Given the description of an element on the screen output the (x, y) to click on. 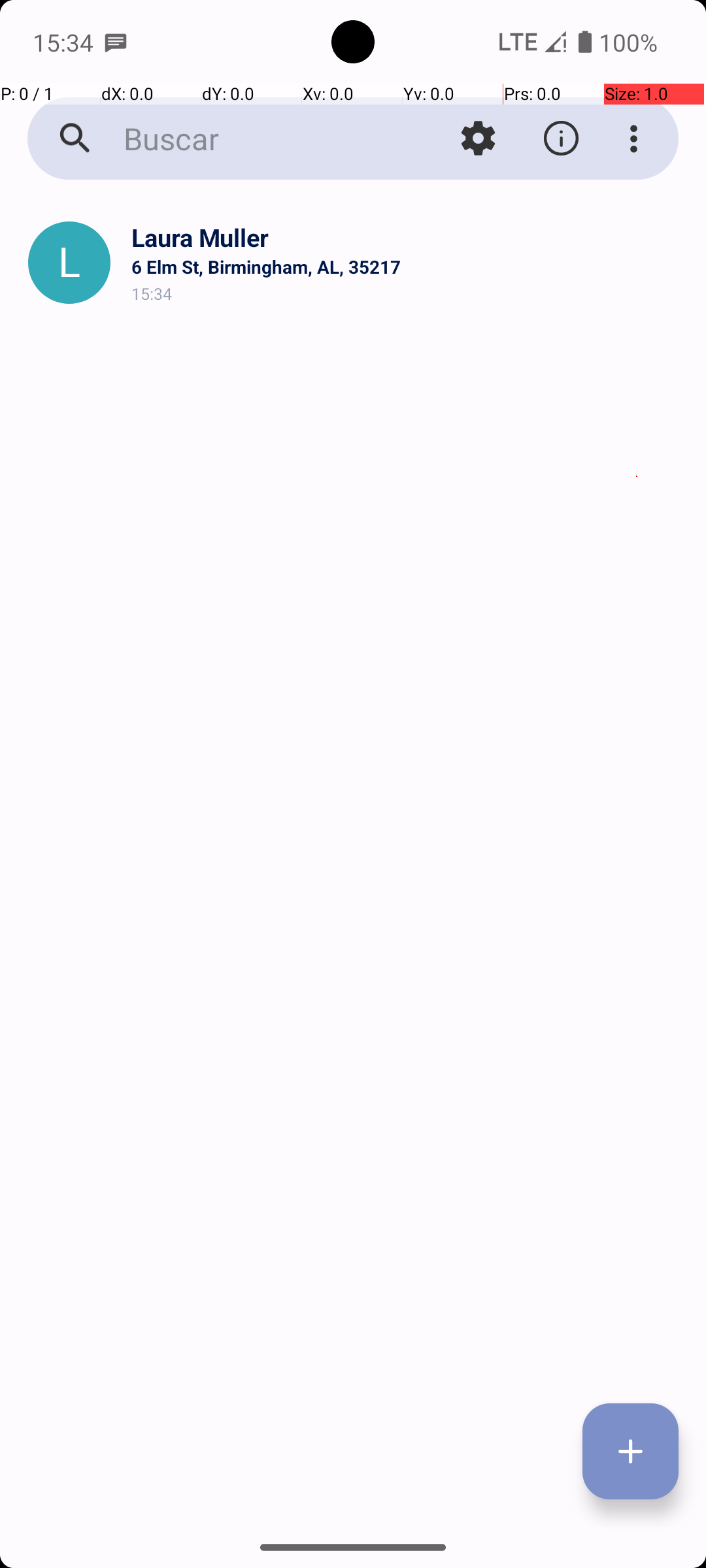
Acerca de Element type: android.widget.Button (560, 138)
Laura Muller Element type: android.widget.TextView (408, 237)
6 Elm St, Birmingham, AL, 35217 Element type: android.widget.TextView (408, 266)
